Given the description of an element on the screen output the (x, y) to click on. 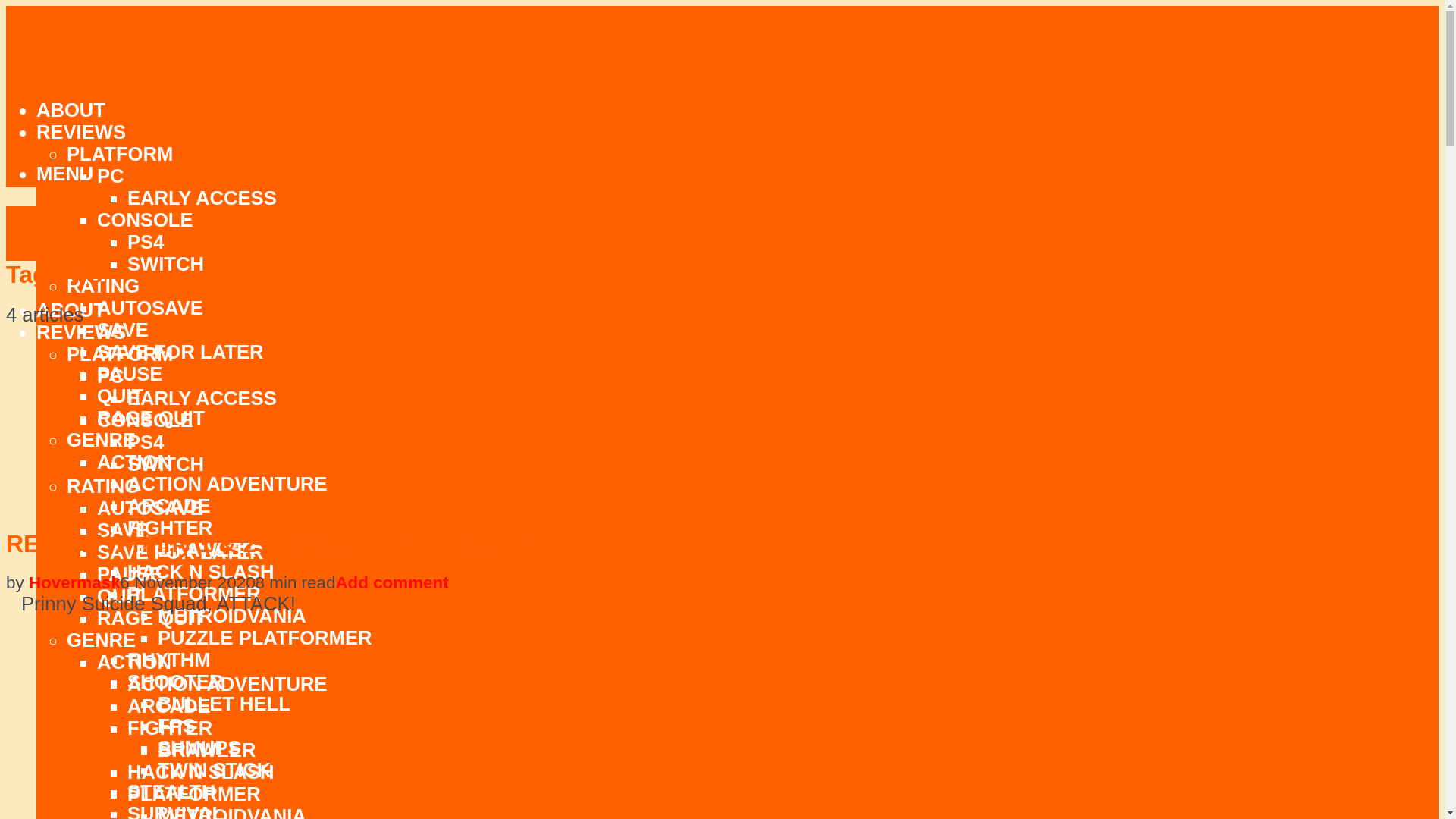
SWITCH (165, 263)
PLATFORMER (194, 593)
PS4 (145, 241)
ABOUT (70, 109)
BULLET HELL (223, 703)
STEALTH (171, 791)
RATING (102, 285)
RAGE QUIT (151, 417)
SHMUPS (199, 747)
PAUSE (129, 373)
FPS (176, 725)
QUIT (119, 395)
ACTION ADVENTURE (227, 483)
TWIN STICK (213, 769)
ACTION (134, 461)
